Given the description of an element on the screen output the (x, y) to click on. 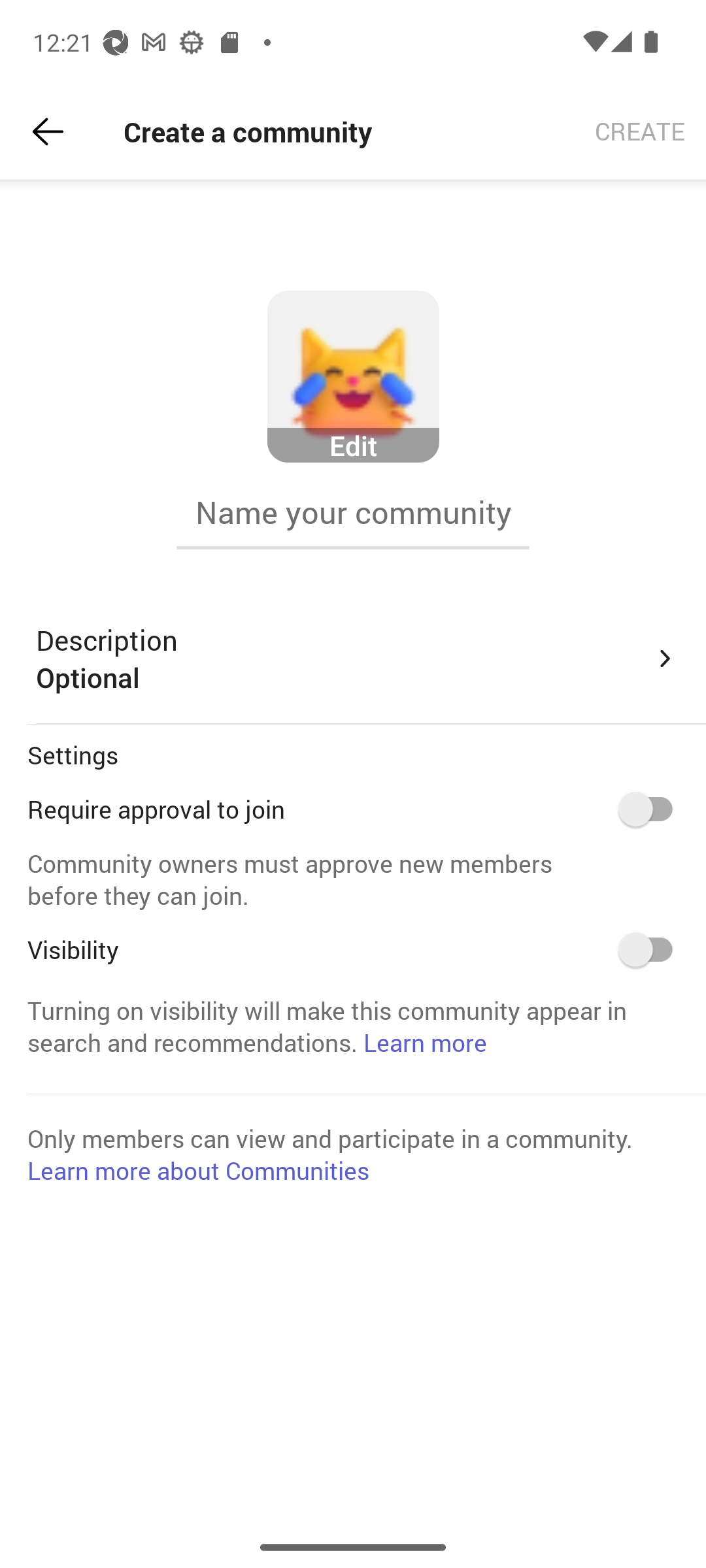
Back (48, 131)
CREATE (639, 131)
Edit community image Edit (353, 377)
Name your community (352, 511)
Description Optional (357, 659)
Require approval to join (652, 808)
Visibility (652, 949)
